Given the description of an element on the screen output the (x, y) to click on. 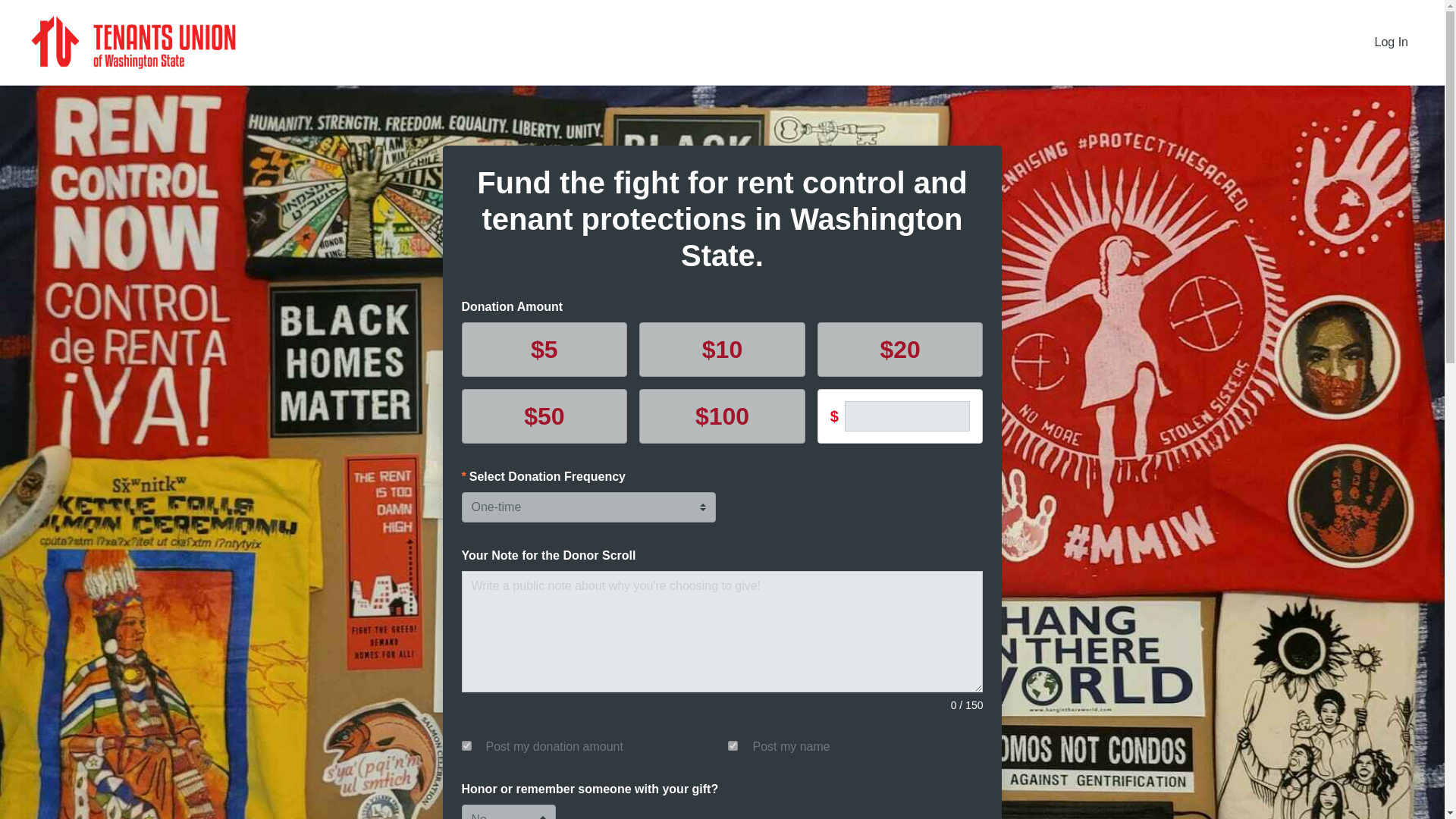
1 (733, 746)
Custom Donation Amount (907, 416)
Log In (1391, 42)
1 (465, 746)
